Given the description of an element on the screen output the (x, y) to click on. 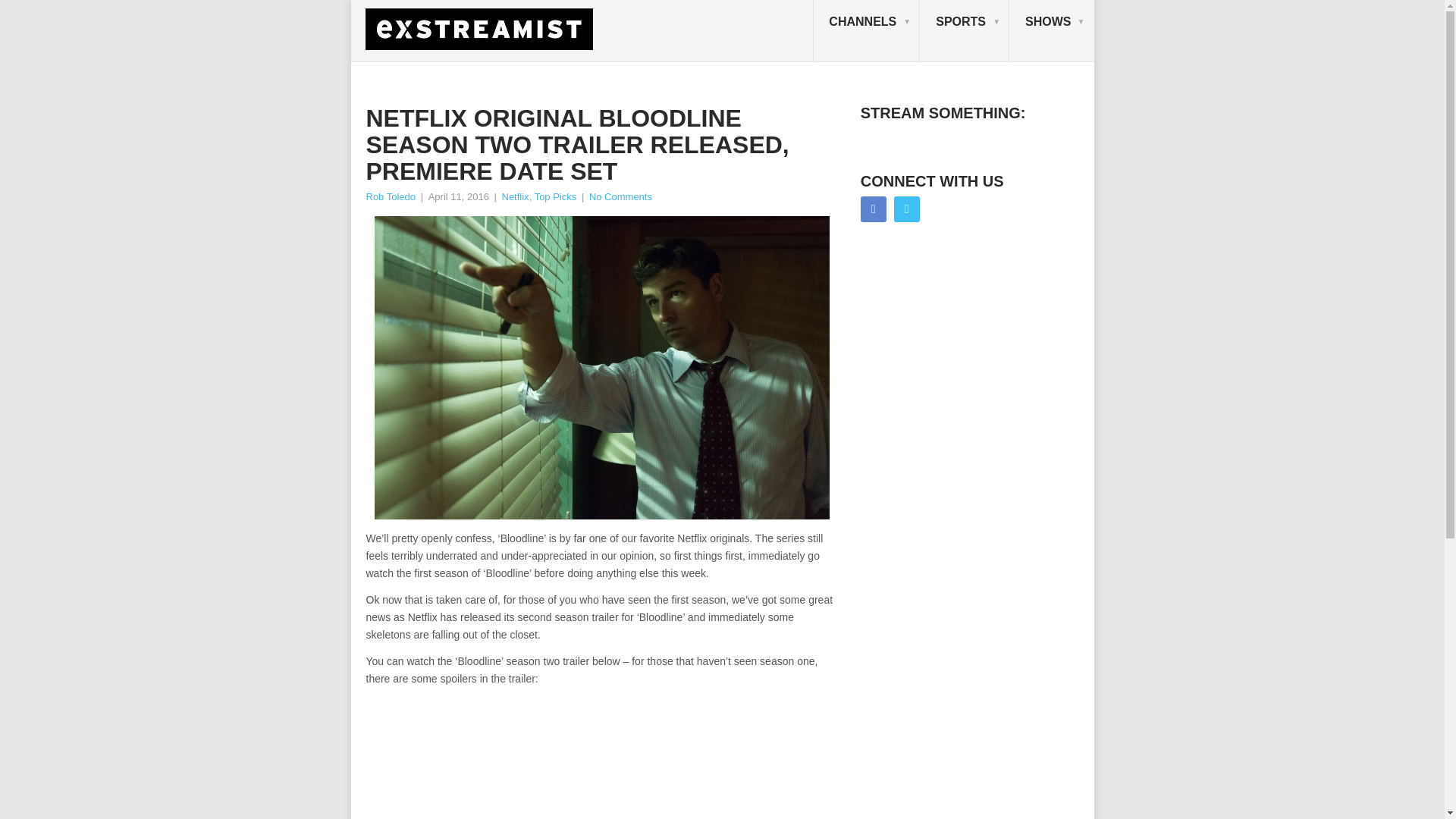
Posts by Rob Toledo (389, 196)
SPORTS (964, 31)
Facebook (873, 208)
CHANNELS (866, 31)
Watch TV Channels Online (866, 31)
Twitter (906, 208)
Watch Sports Online (964, 31)
Watch TV Shows Online (1051, 31)
